Given the description of an element on the screen output the (x, y) to click on. 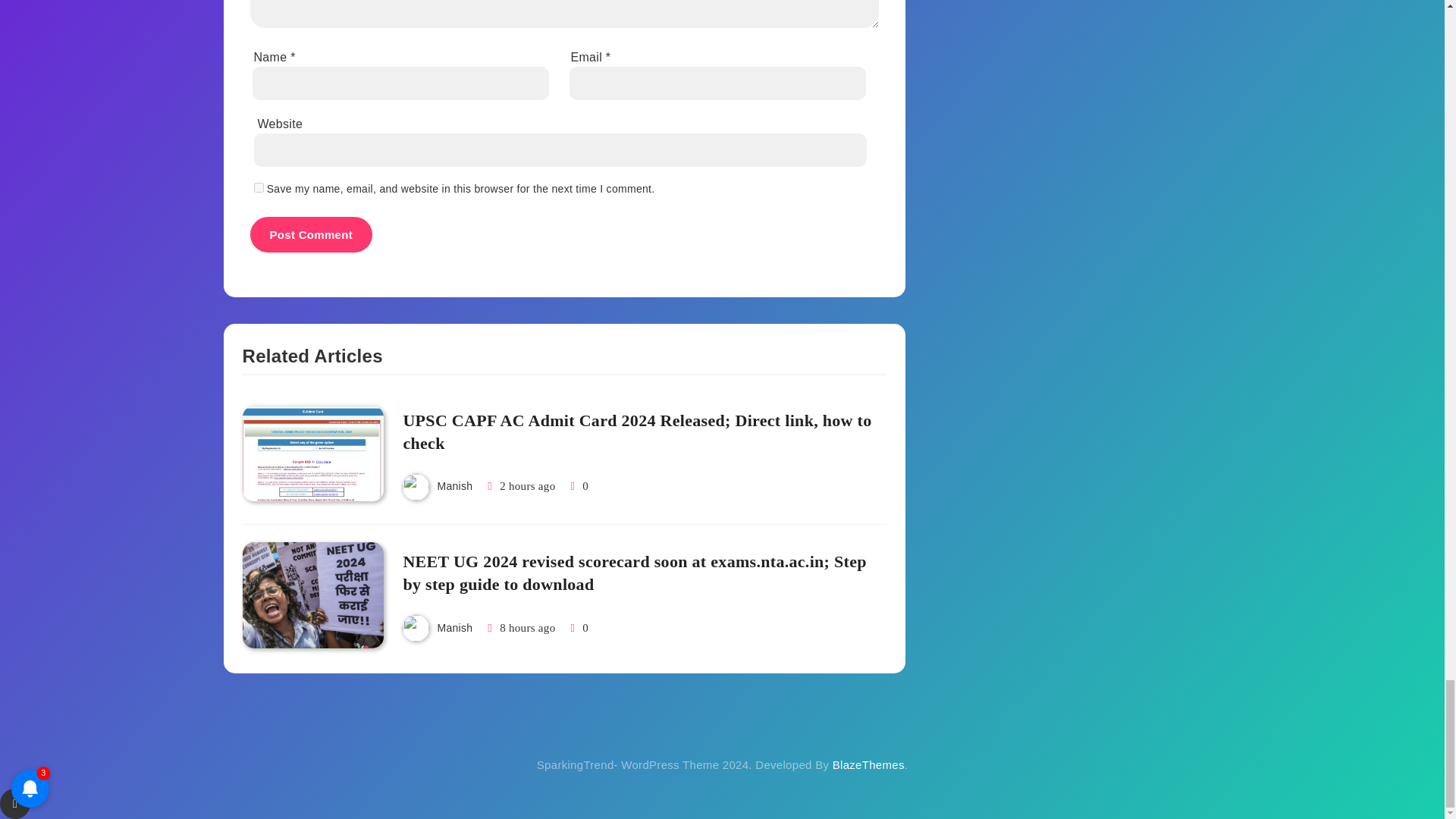
0 (577, 485)
Post Comment (311, 234)
Post Comment (311, 234)
yes (258, 187)
2 hours ago (526, 485)
Manish (453, 485)
